Given the description of an element on the screen output the (x, y) to click on. 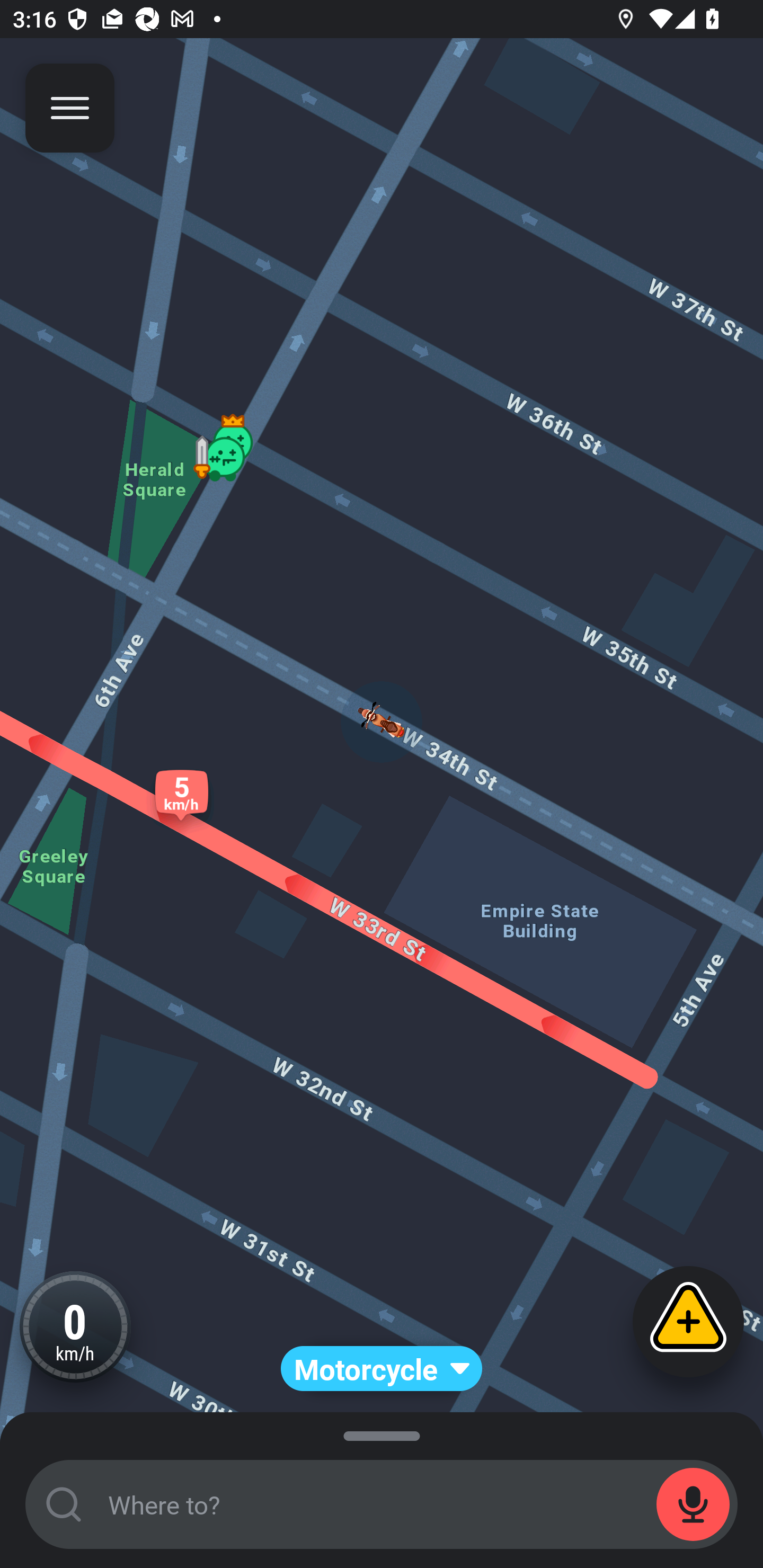
Motorcycle (381, 1368)
SUGGESTIONS_SHEET_DRAG_HANDLE (381, 1432)
START_STATE_SEARCH_FIELD Where to? (381, 1504)
